Given the description of an element on the screen output the (x, y) to click on. 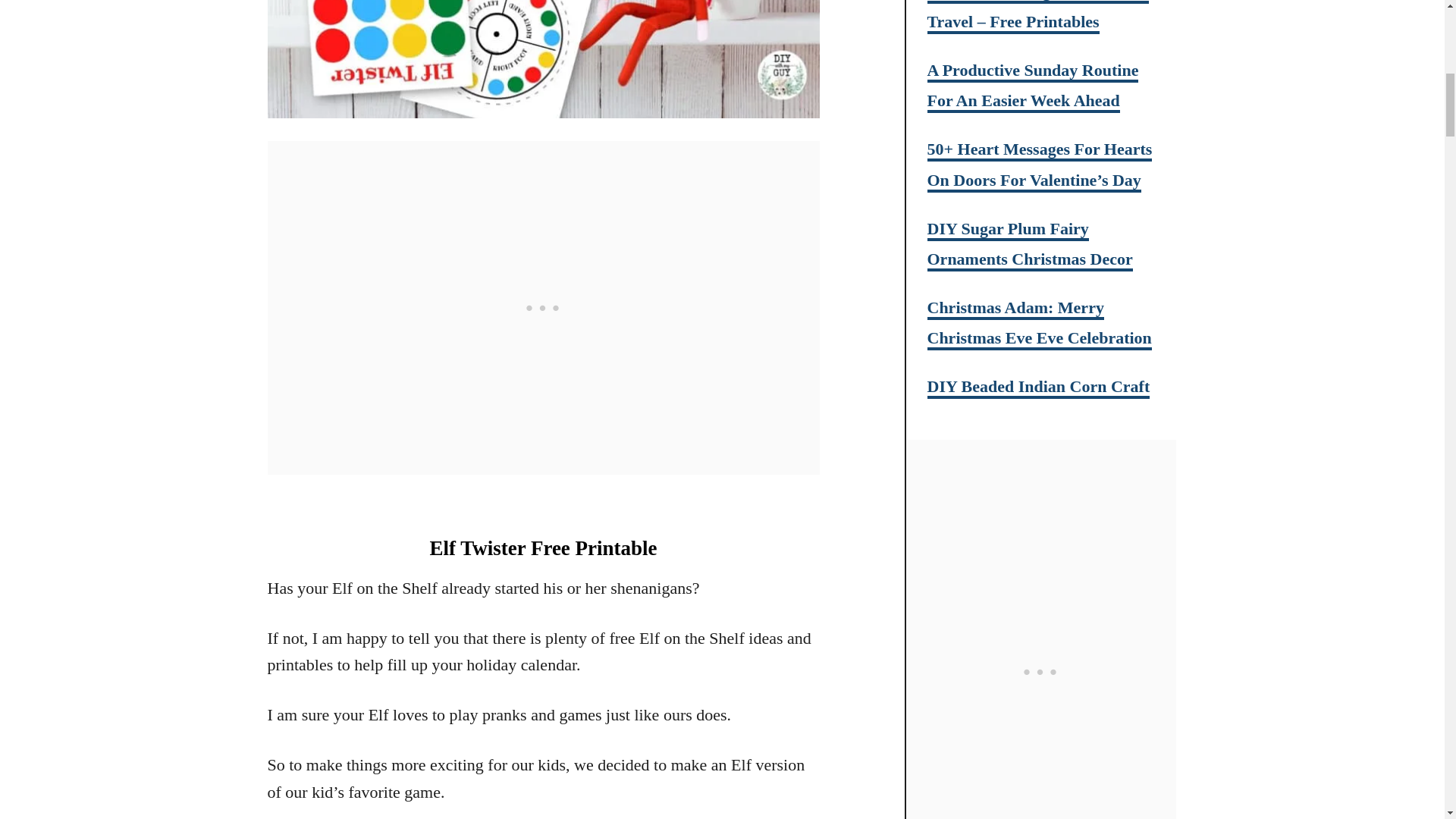
A Productive Sunday Routine For An Easier Week Ahead (1032, 86)
